Given the description of an element on the screen output the (x, y) to click on. 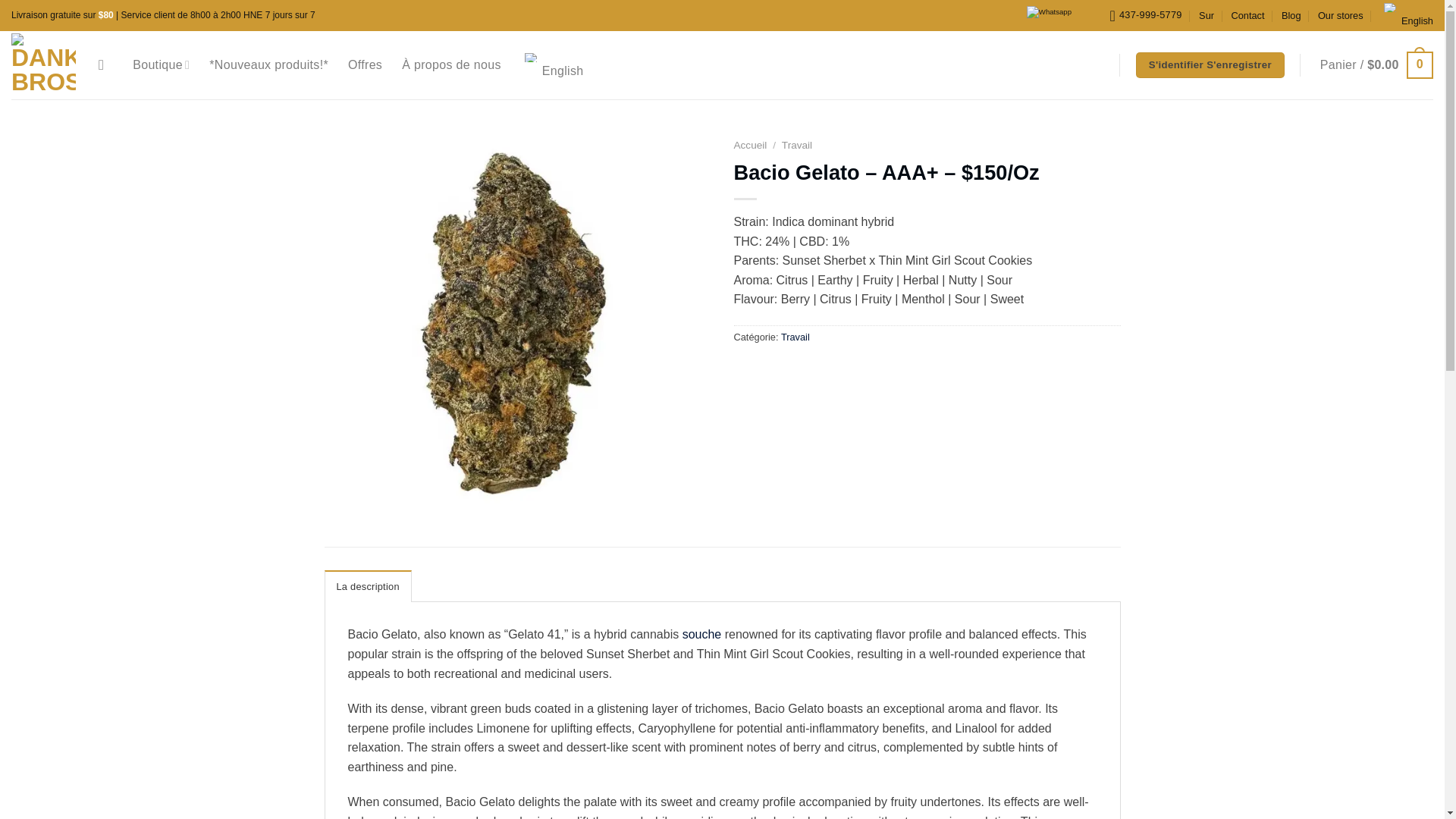
Boutique (160, 64)
437-999-5779 (1144, 15)
Sur (1206, 15)
English (531, 57)
Blog (1291, 15)
English (1390, 7)
437-999-5779 (1144, 15)
Contact (1246, 15)
Offres (364, 64)
English (1406, 15)
Dank Bros Cannabis Shop (43, 65)
Our stores (1339, 15)
